Given the description of an element on the screen output the (x, y) to click on. 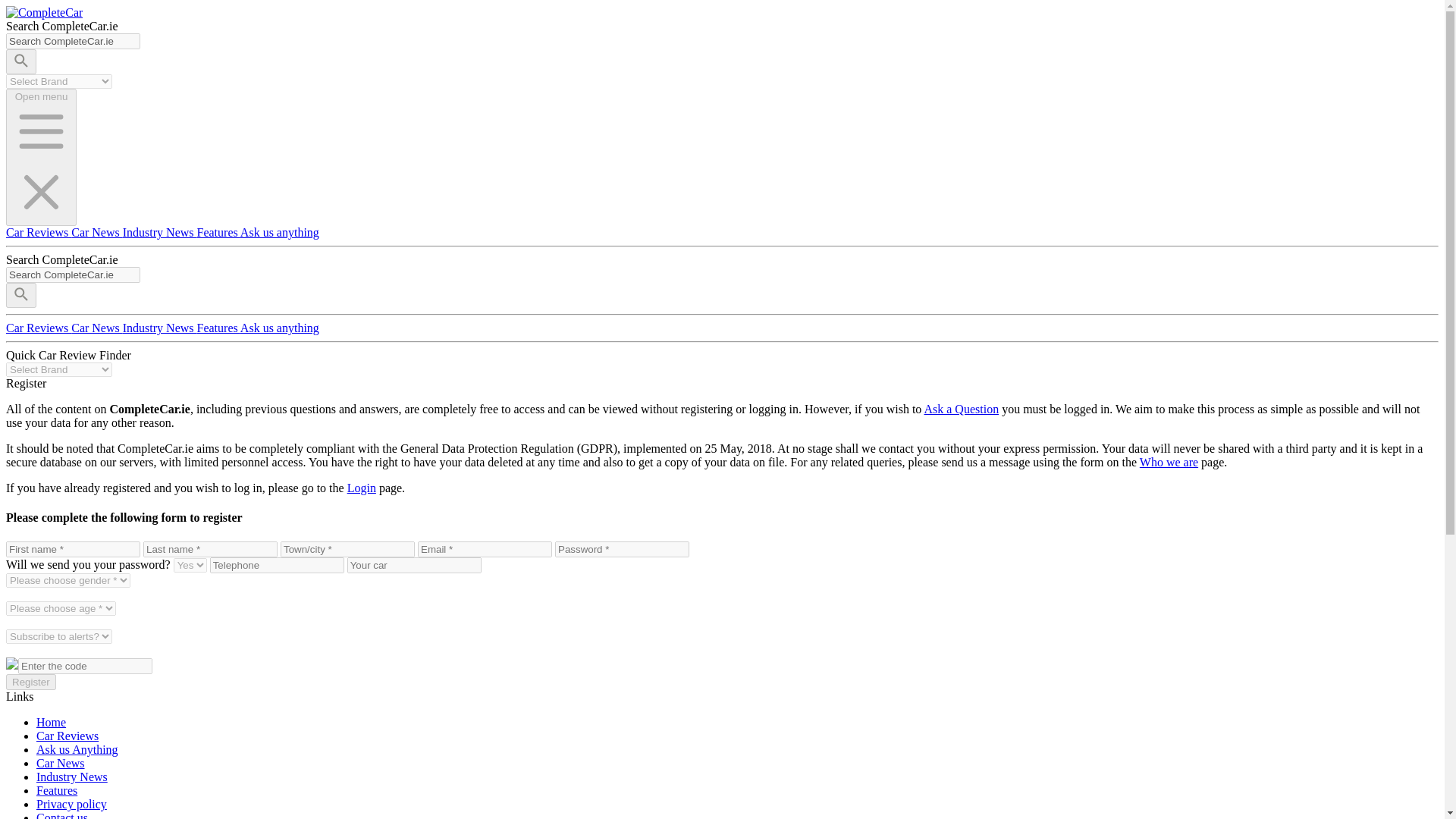
Search CompleteCar.ie (72, 274)
Contact us (61, 815)
Search CompleteCar.ie (72, 41)
Privacy policy (71, 803)
Industry News (71, 776)
Car News (96, 327)
Car News (60, 762)
Car News (96, 232)
Search CompleteCar.ie (72, 274)
Open menu (41, 157)
Car Reviews (38, 327)
Search CompleteCar.ie (72, 41)
Home (50, 721)
Industry News (159, 327)
Features (218, 327)
